Given the description of an element on the screen output the (x, y) to click on. 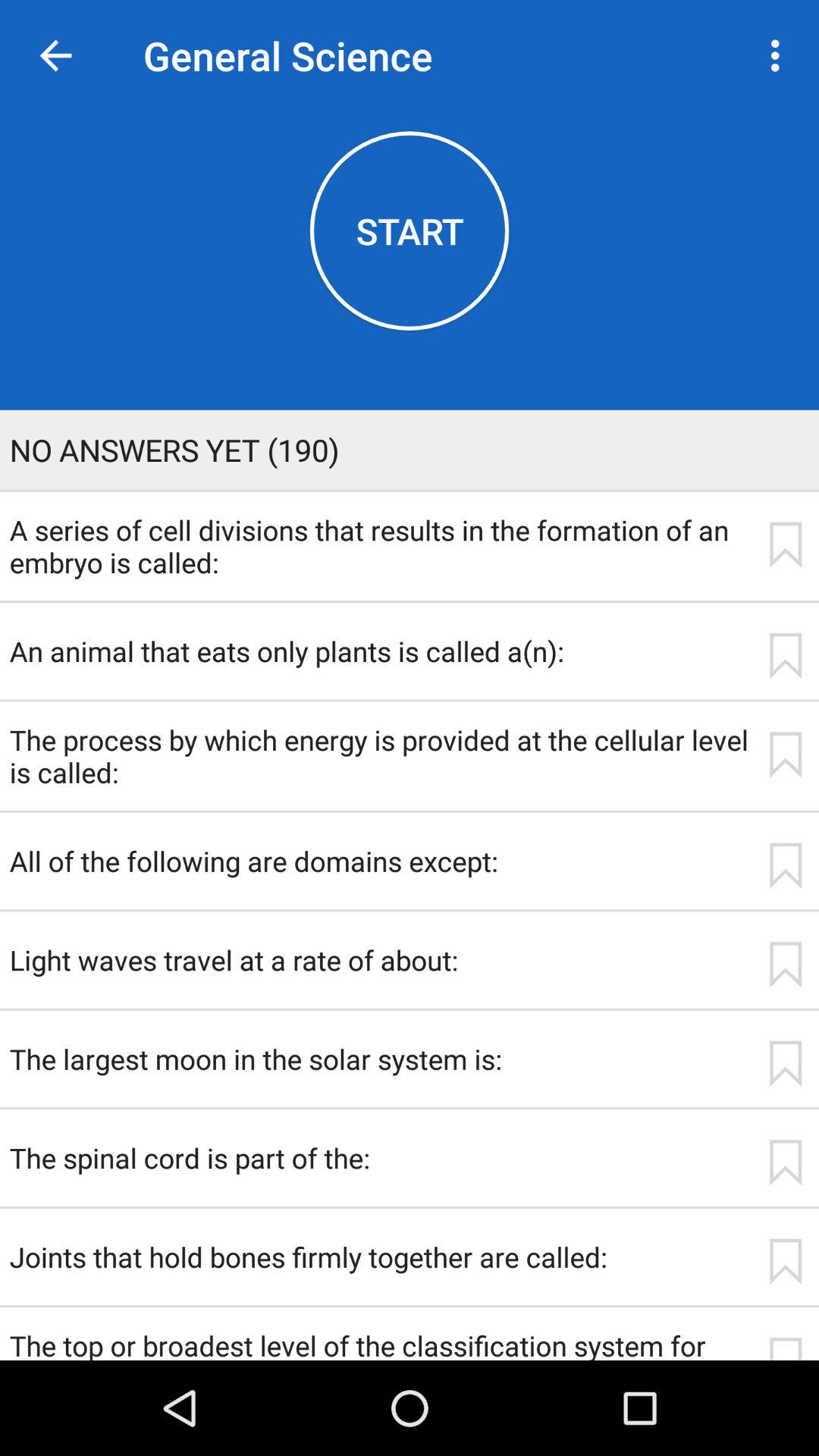
press the app to the right of the light waves travel item (784, 964)
